Given the description of an element on the screen output the (x, y) to click on. 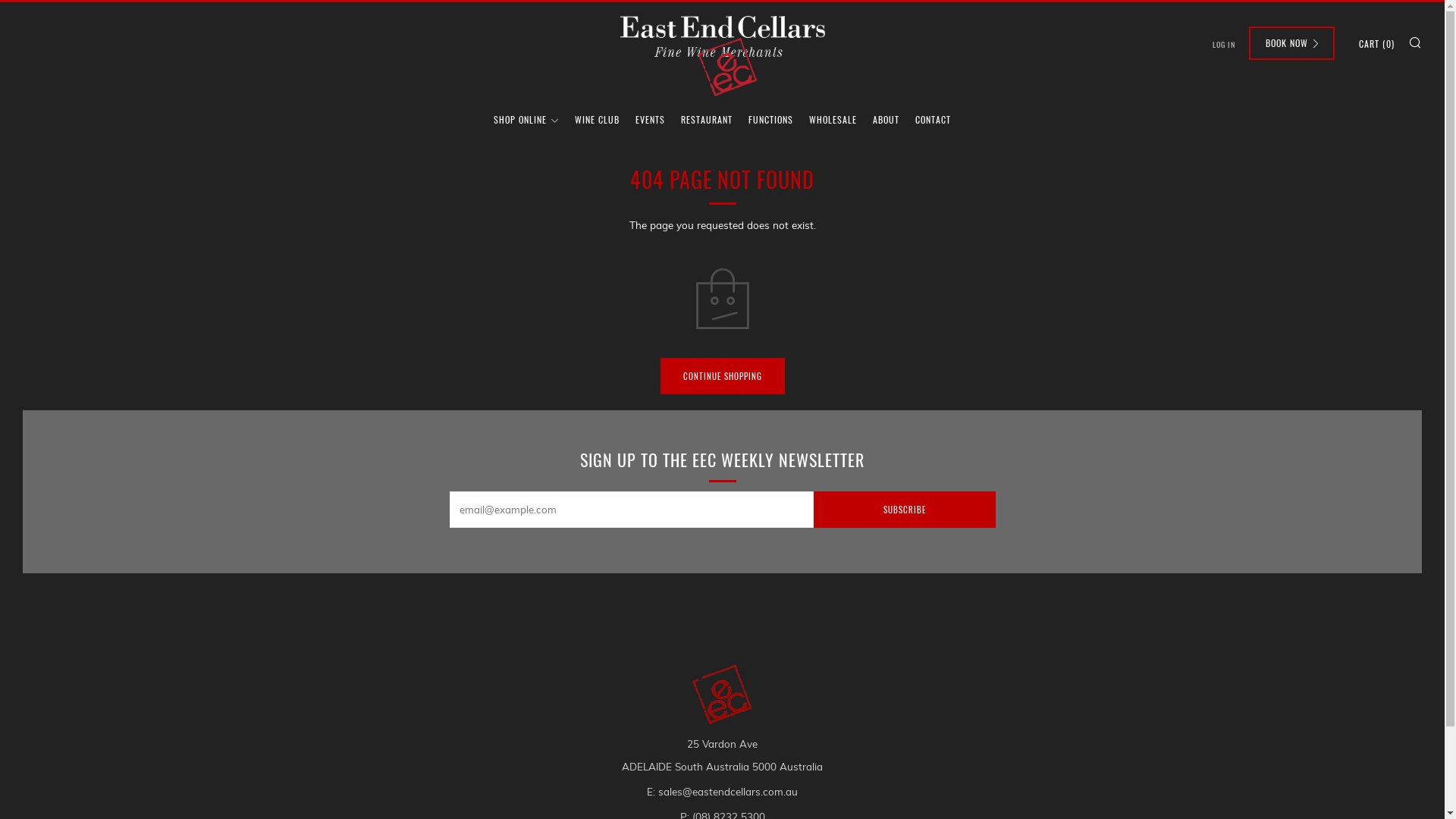
RESTAURANT Element type: text (706, 119)
BOOK NOW Element type: text (1291, 42)
CART (0) Element type: text (1376, 43)
WINE CLUB Element type: text (596, 119)
EVENTS Element type: text (650, 119)
WHOLESALE Element type: text (832, 119)
LOG IN Element type: text (1223, 44)
sales@eastendcellars.com.au Element type: text (727, 791)
SHOP ONLINE Element type: text (525, 119)
ABOUT Element type: text (885, 119)
FUNCTIONS Element type: text (770, 119)
SUBSCRIBE Element type: text (903, 509)
CONTINUE SHOPPING Element type: text (721, 375)
CONTACT Element type: text (932, 119)
SEARCH Element type: text (1414, 42)
